Given the description of an element on the screen output the (x, y) to click on. 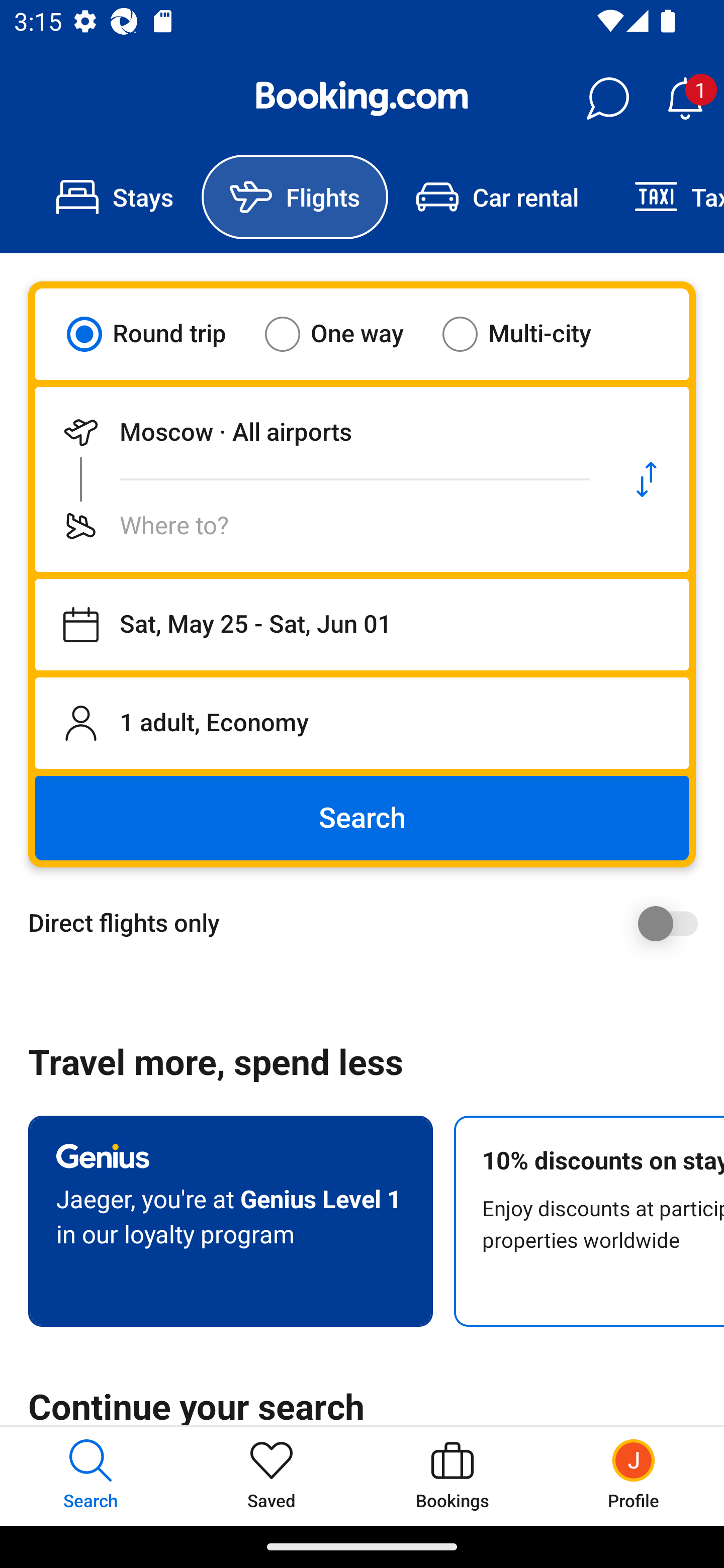
Messages (607, 98)
Notifications (685, 98)
Stays (114, 197)
Flights (294, 197)
Car rental (497, 197)
Taxi (665, 197)
One way (346, 333)
Multi-city (528, 333)
Departing from Moscow · All airports (319, 432)
Swap departure location and destination (646, 479)
Flying to  (319, 525)
Departing on Sat, May 25, returning on Sat, Jun 01 (361, 624)
1 adult, Economy (361, 722)
Search (361, 818)
Direct flights only (369, 923)
Saved (271, 1475)
Bookings (452, 1475)
Profile (633, 1475)
